Given the description of an element on the screen output the (x, y) to click on. 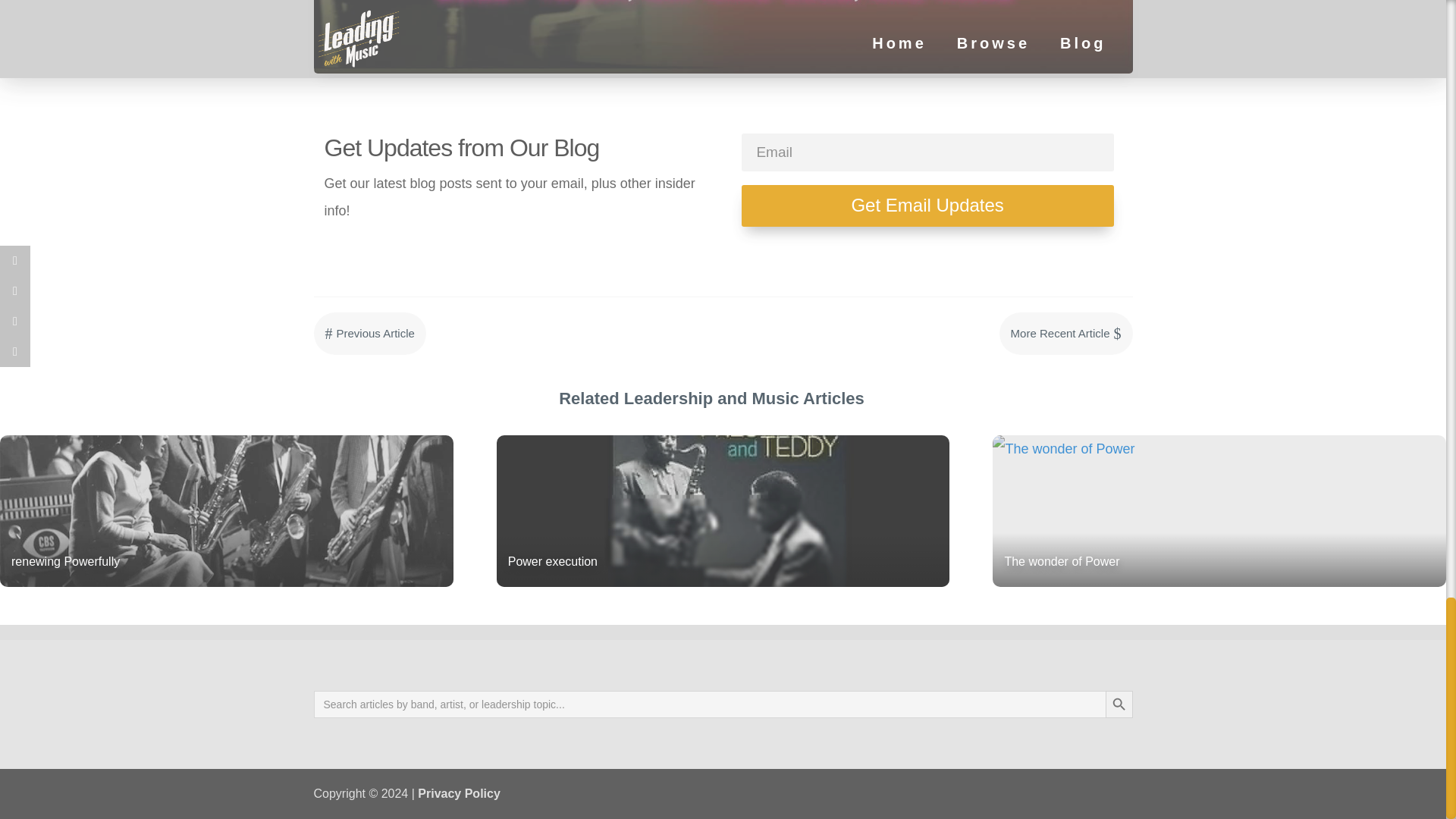
RTUSA-GetYourKicks (723, 36)
Get Email Updates (927, 205)
renewing Powerfully (226, 510)
renewing Powerfully (226, 510)
Power execution (723, 510)
Power execution (723, 510)
Privacy Policy (458, 793)
Search Button (1118, 704)
